Given the description of an element on the screen output the (x, y) to click on. 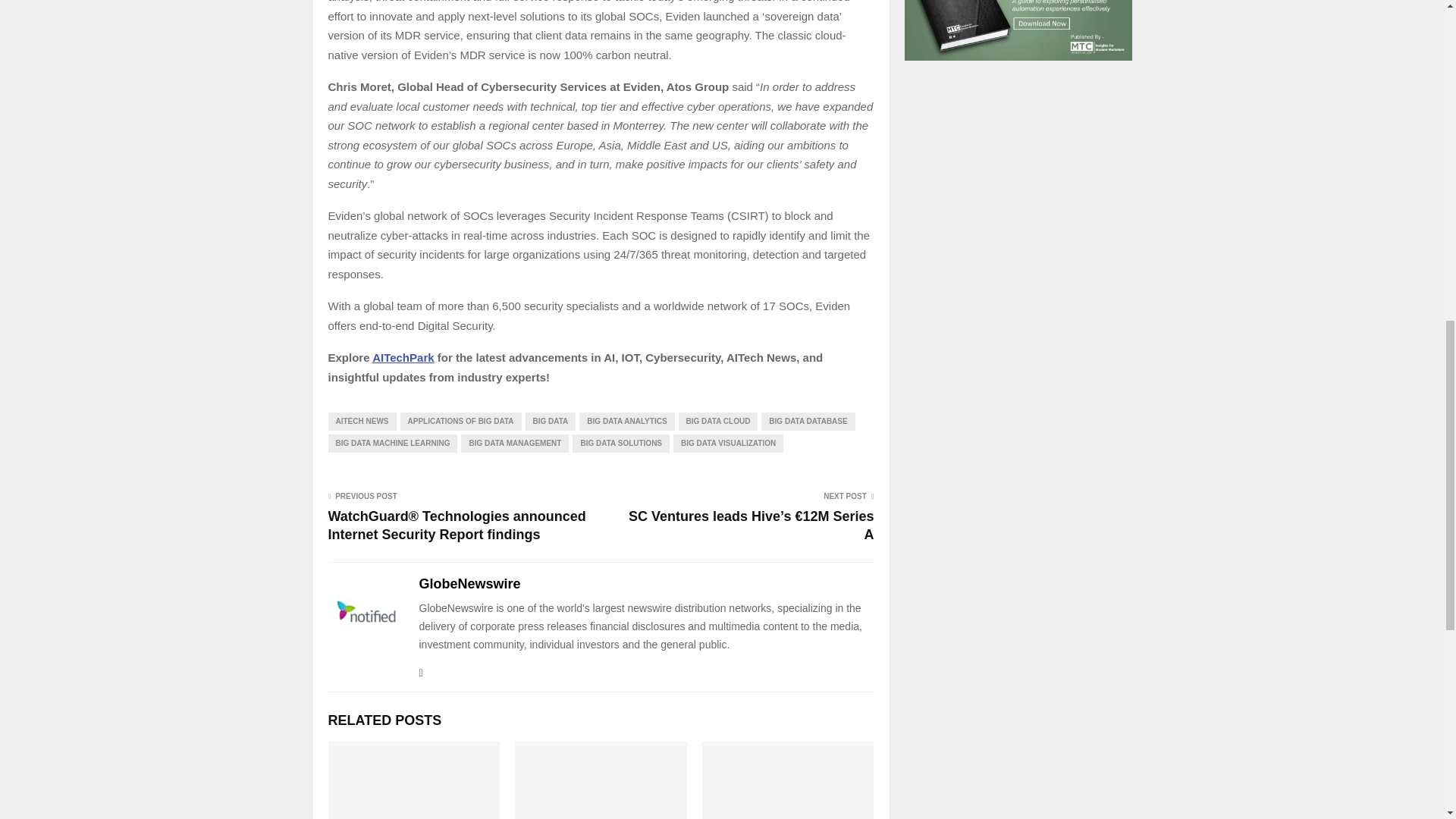
Posts by GlobeNewswire (469, 583)
